Given the description of an element on the screen output the (x, y) to click on. 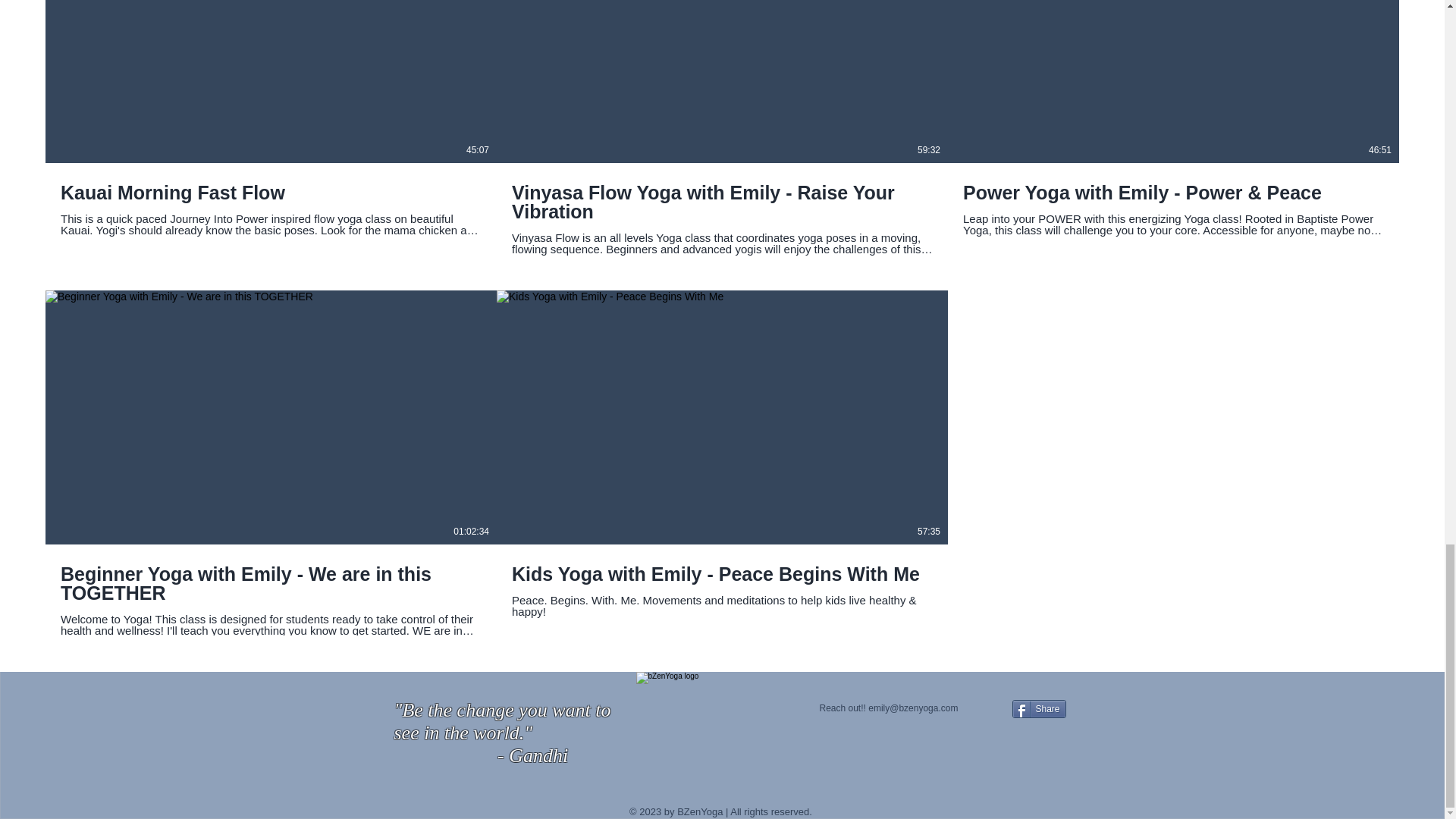
Beginner Yoga with Emily -  We are in this TOGETHER (271, 583)
Kauai Morning Fast Flow (271, 191)
Vinyasa Flow Yoga with Emily - Raise Your Vibration (722, 201)
Share (1038, 709)
Kids Yoga with Emily - Peace Begins With Me (722, 573)
